Given the description of an element on the screen output the (x, y) to click on. 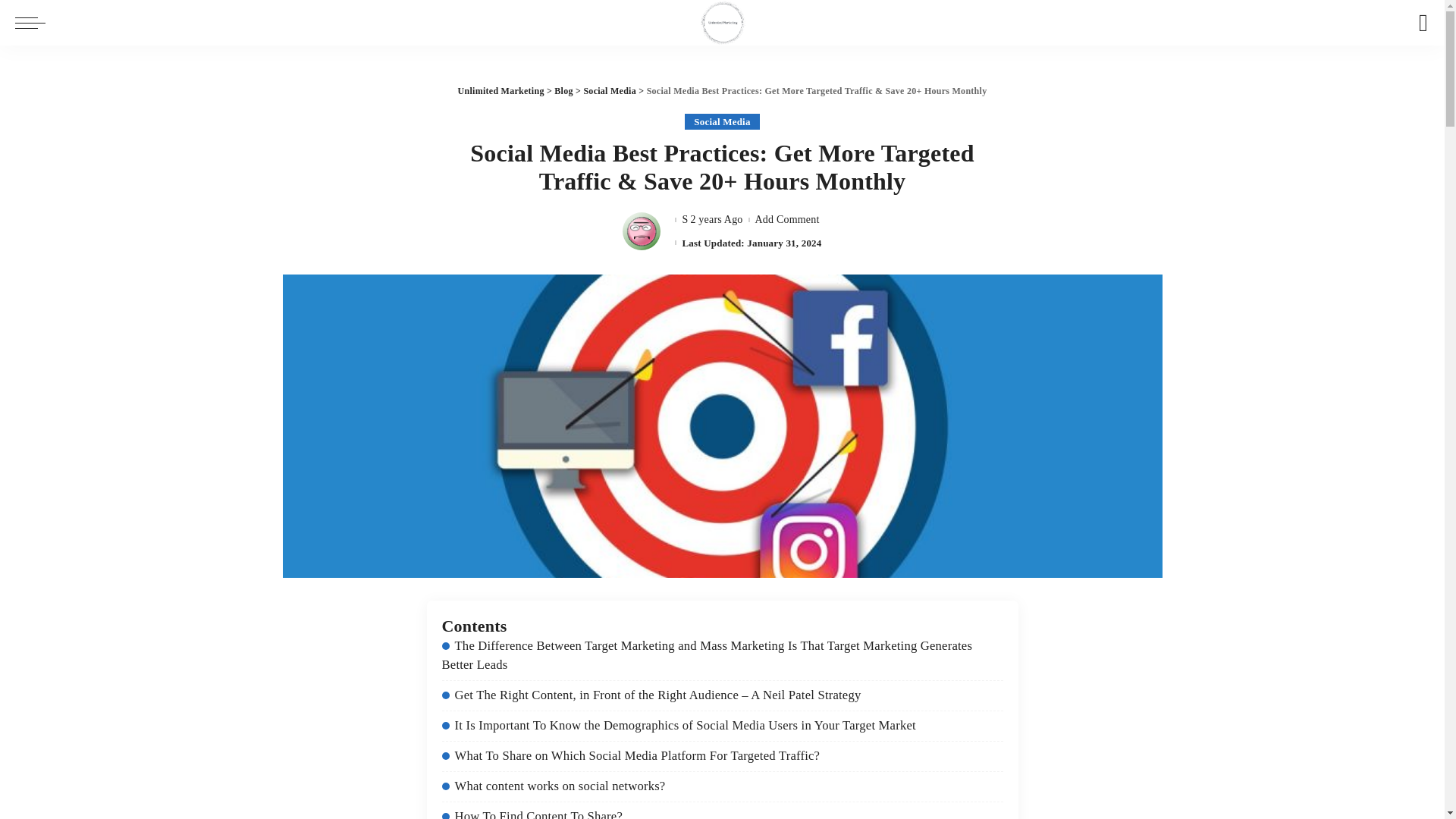
Add Comment (787, 219)
Social Media (721, 121)
Social Media (609, 90)
Go to Unlimited Marketing. (501, 90)
How To Find Content To Share? (532, 814)
Go to Blog. (563, 90)
Unlimited Marketing (501, 90)
